Given the description of an element on the screen output the (x, y) to click on. 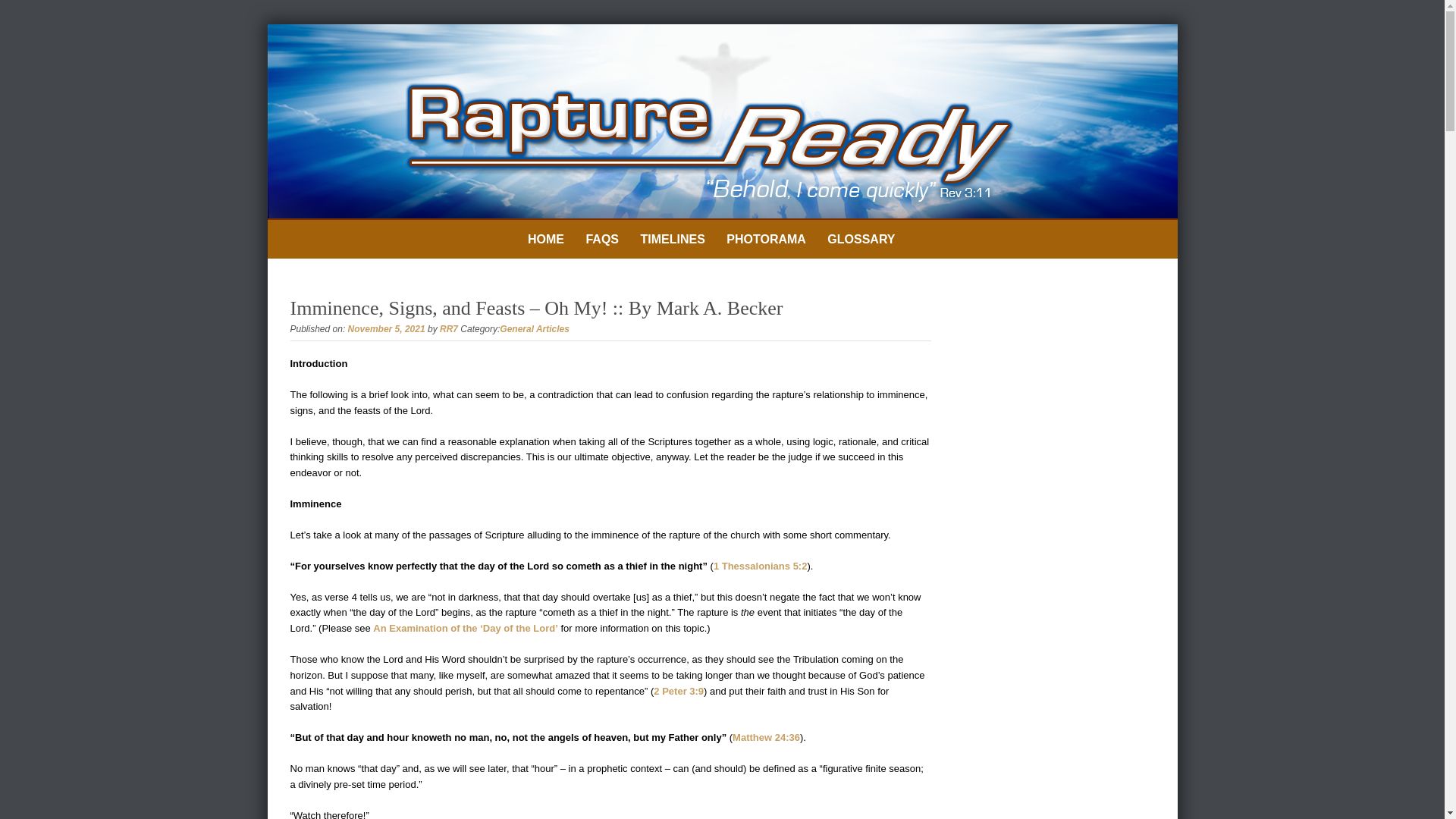
HOME (545, 239)
Matthew 24:36 (765, 737)
PHOTORAMA (766, 239)
RR7 (448, 328)
1 Thessalonians 5:2 (760, 565)
2 Peter 3:9 (678, 690)
General Articles (534, 328)
November 5, 2021 (386, 328)
GLOSSARY (861, 239)
FAQS (601, 239)
